Given the description of an element on the screen output the (x, y) to click on. 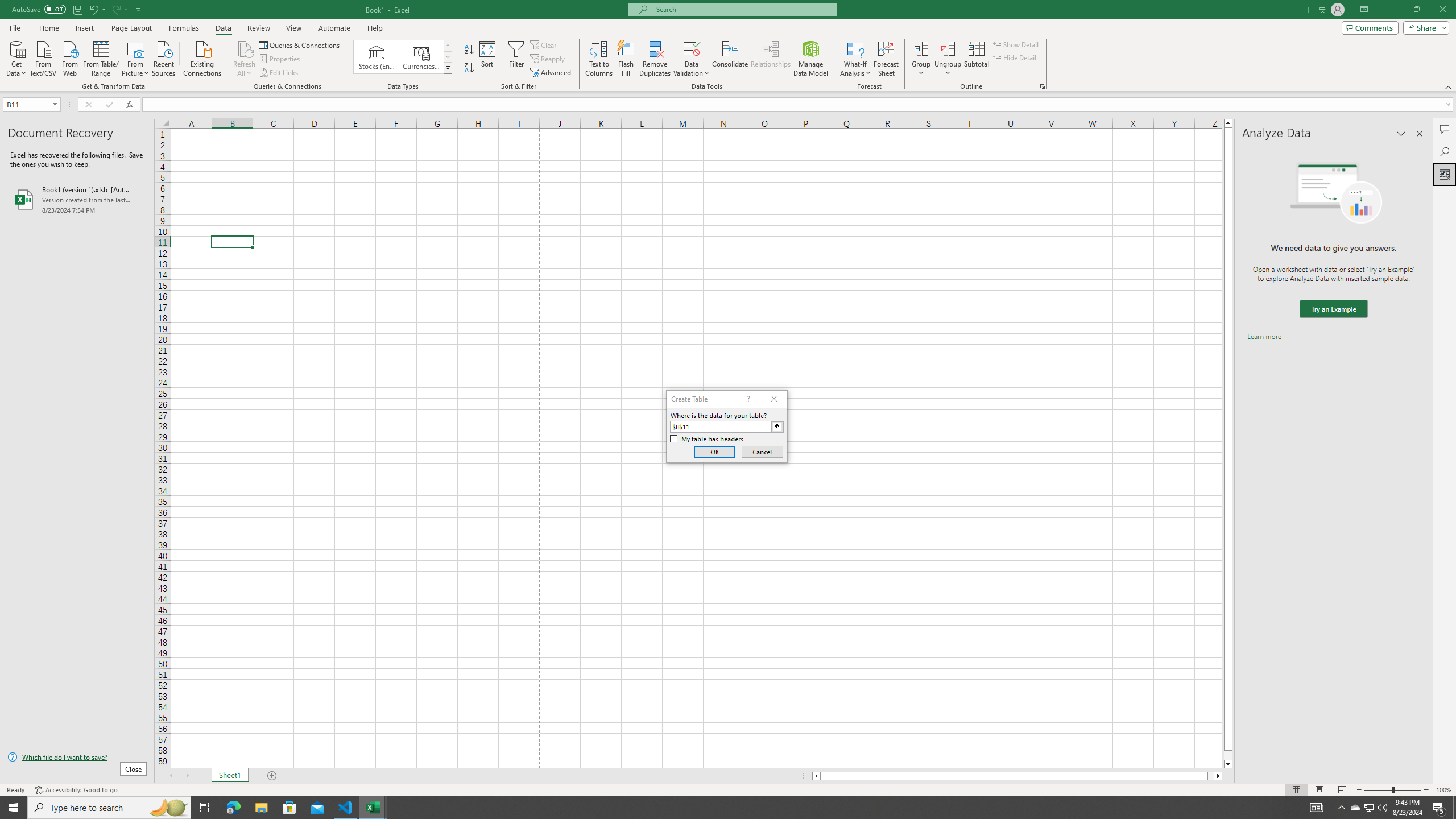
Group and Outline Settings (1042, 85)
From Table/Range (100, 57)
Currencies (English) (420, 56)
Show Detail (1016, 44)
Forecast Sheet (885, 58)
